Given the description of an element on the screen output the (x, y) to click on. 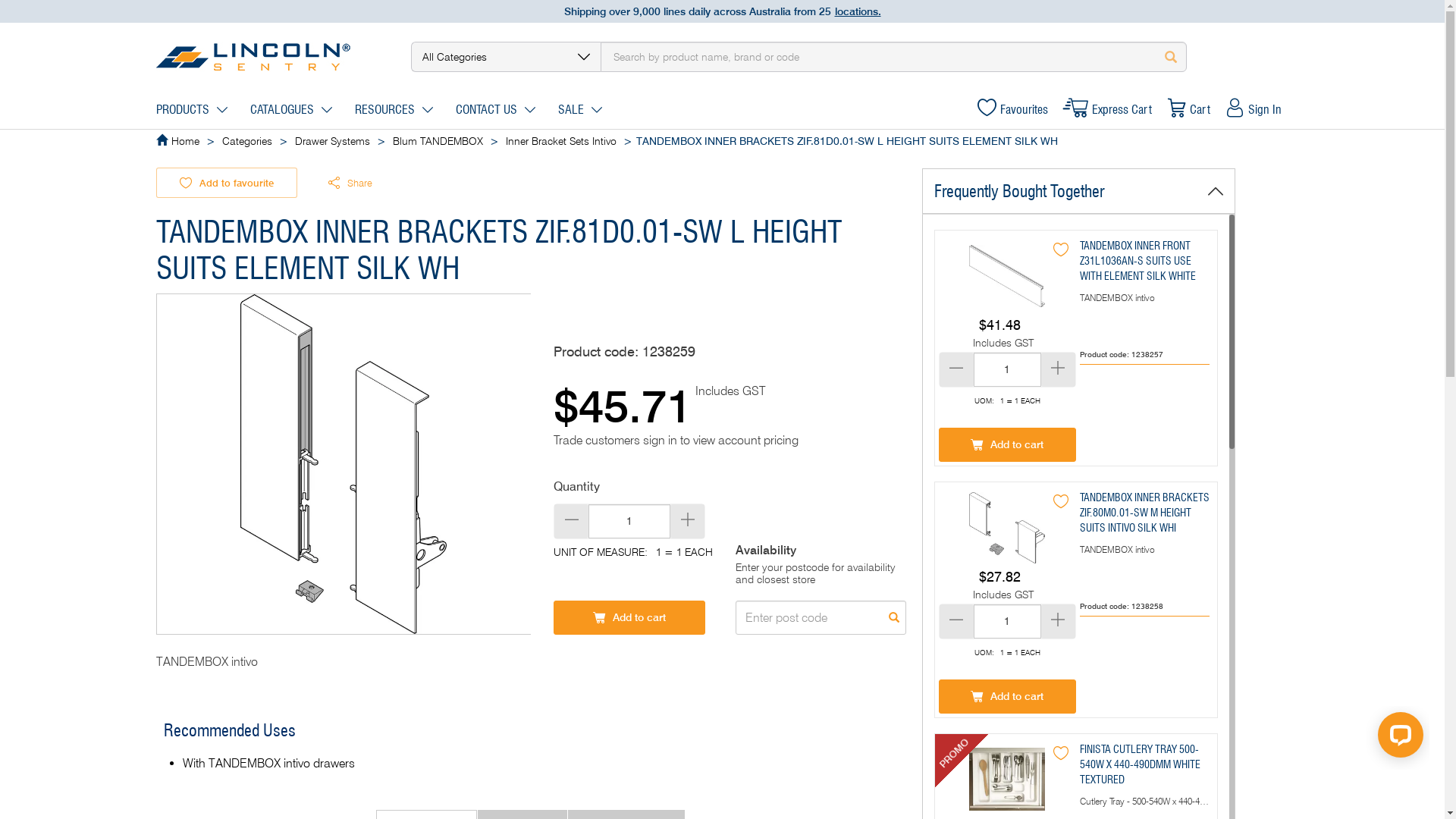
Cart Element type: text (1187, 109)
Express Cart Element type: text (1107, 109)
locations. Element type: text (857, 11)
Share Element type: text (346, 182)
Home Element type: text (185, 140)
LiveChat chat widget Element type: hover (1397, 737)
FINISTA CUTLERY TRAY 500-540W X 440-490DMM WHITE TEXTURED Element type: text (1139, 764)
Blum TANDEMBOX Element type: text (437, 140)
Add to cart Element type: text (629, 617)
All Categories Element type: text (505, 56)
Add to cart Element type: text (1007, 696)
Inner Bracket Sets Intivo Element type: text (560, 140)
FINISTA CUTLERY TRAY 500-540W X 440-490DMM WHITE TEXTURED Element type: hover (1006, 779)
Add to favourite Element type: text (226, 182)
Add to cart Element type: text (1007, 444)
Categories Element type: text (246, 140)
Sign In Element type: text (1253, 109)
Drawer Systems Element type: text (331, 140)
